Given the description of an element on the screen output the (x, y) to click on. 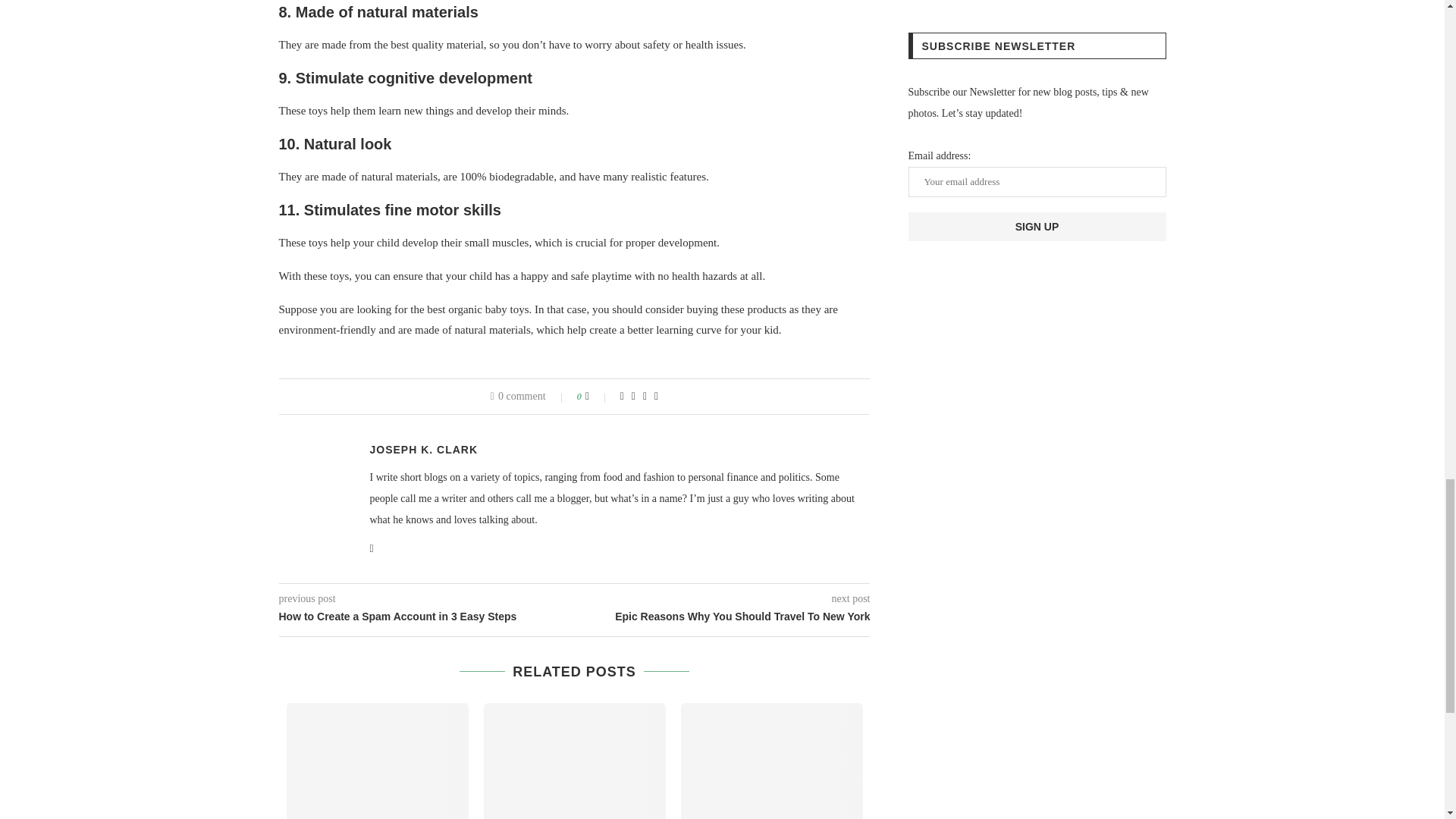
Sign up (1037, 226)
4 Factors to Consider When Choosing a Home Care Provider (772, 760)
How to Throw a Castle Wedding for Your Wedding (377, 760)
Posts by Joseph K. Clark (424, 449)
Tips for Throwing Better Holiday Parties (574, 760)
Like (597, 396)
